Given the description of an element on the screen output the (x, y) to click on. 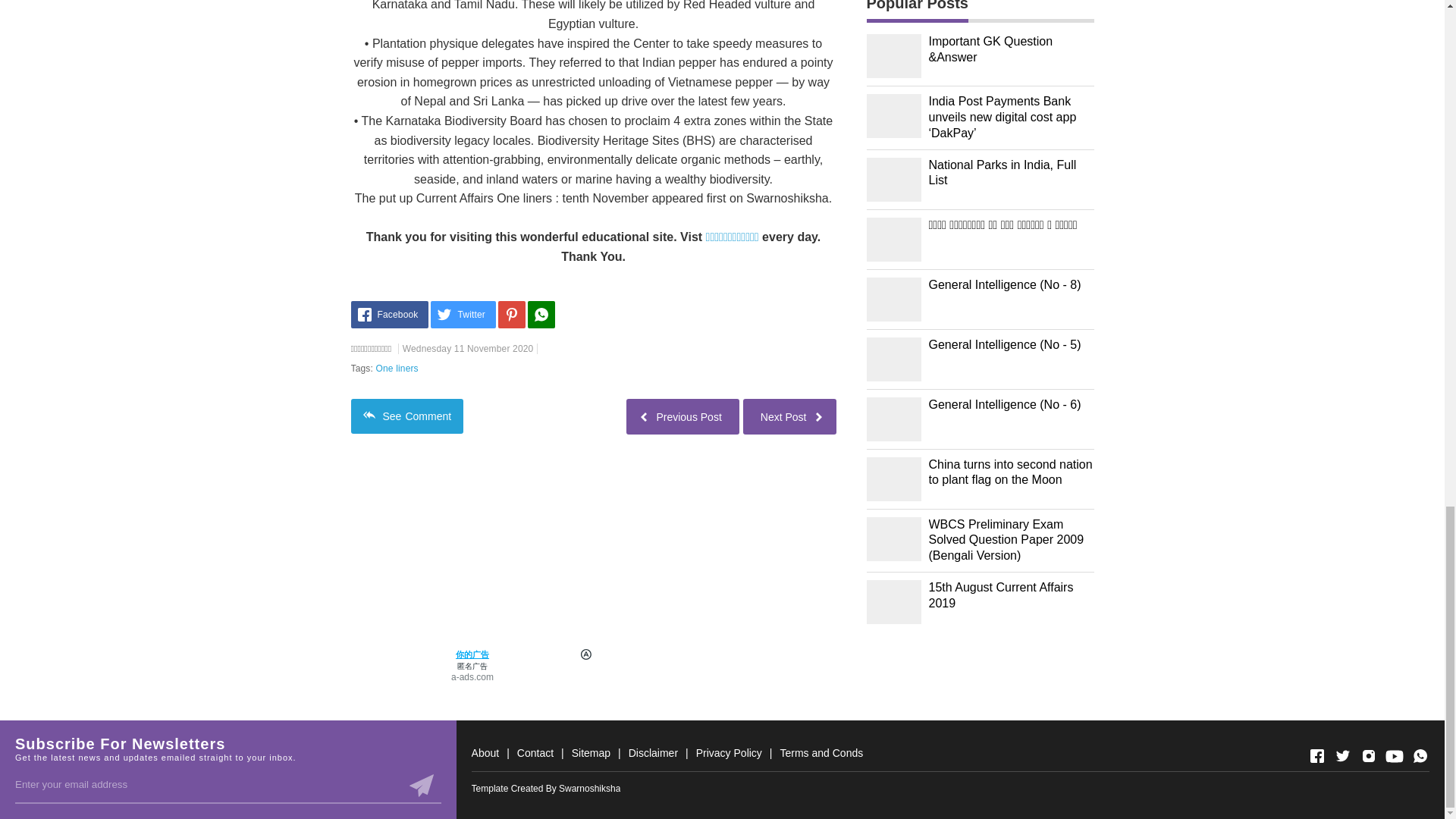
One liners (396, 368)
Older Post (682, 416)
Twitter (462, 314)
China turns into second nation to plant flag on the Moon (1010, 472)
Newer Post (788, 416)
One liners (396, 368)
Next Post (788, 416)
Facebook (389, 314)
Previous Post (682, 416)
National Parks in India, Full List (1010, 173)
Share on Pinterest (511, 314)
